Given the description of an element on the screen output the (x, y) to click on. 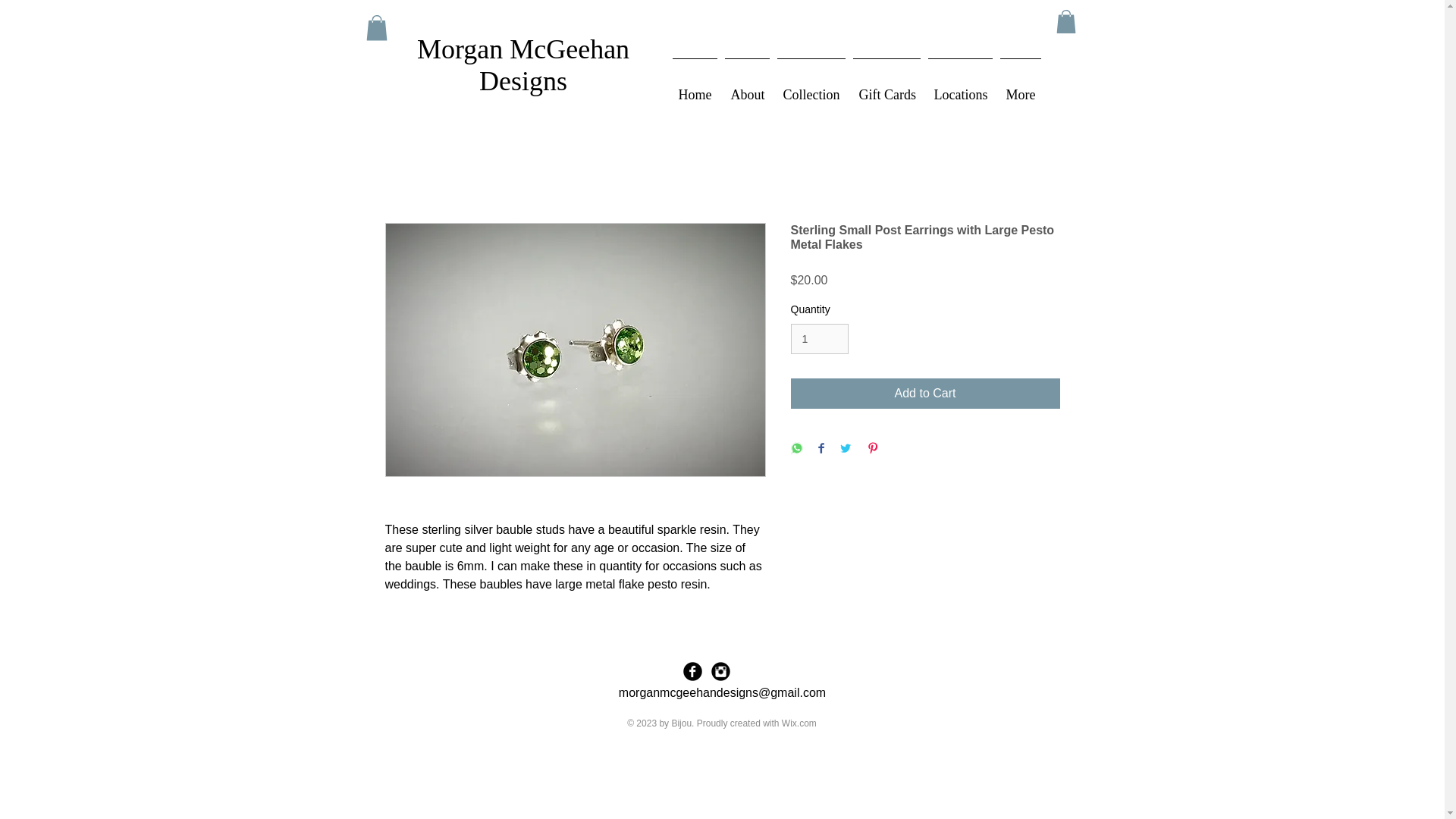
Collection (810, 87)
Gift Cards (886, 87)
Locations (959, 87)
1 (818, 338)
Add to Cart (924, 393)
Wix.com (798, 723)
